Given the description of an element on the screen output the (x, y) to click on. 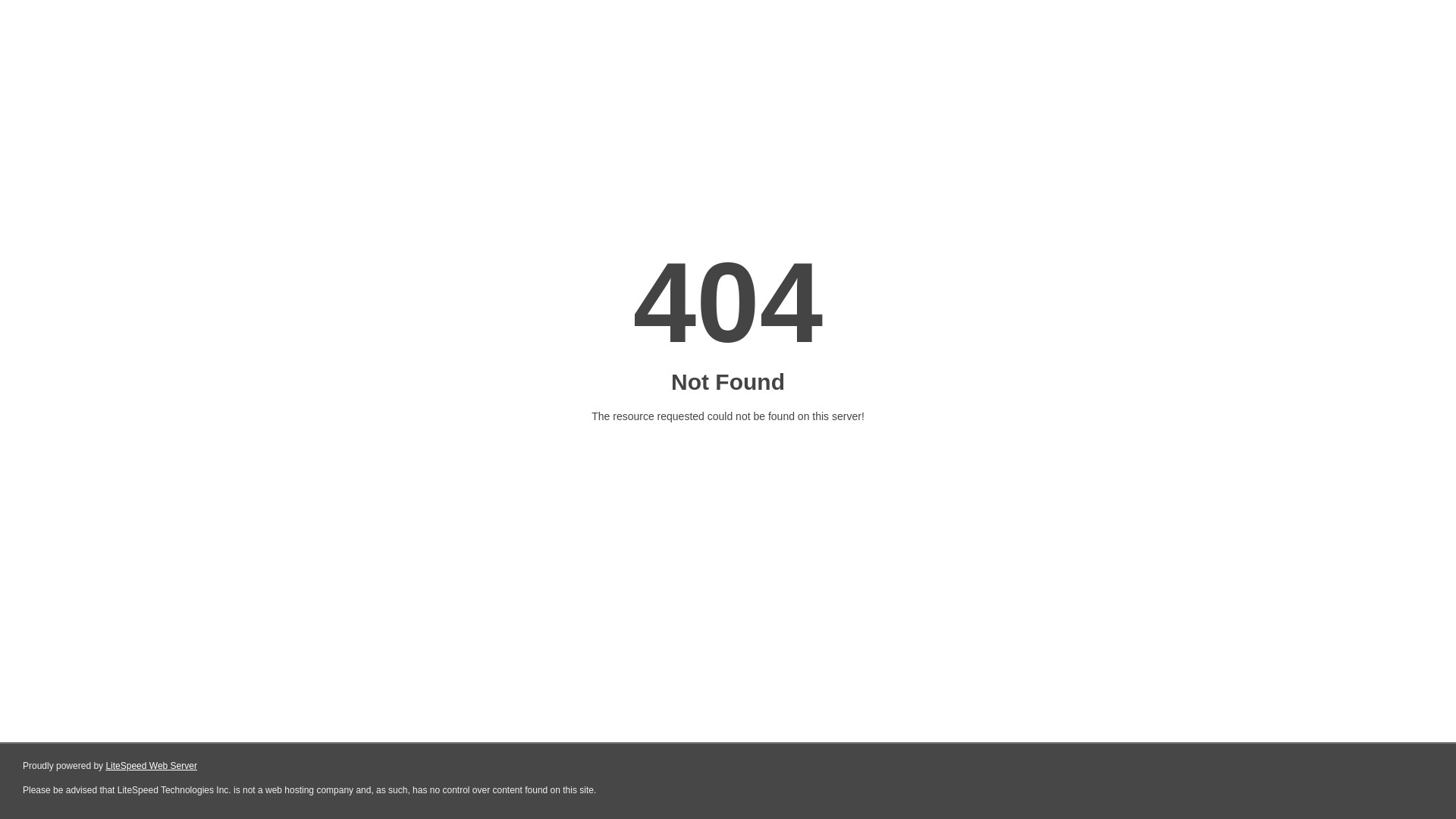
LiteSpeed Web Server Element type: text (151, 765)
